Given the description of an element on the screen output the (x, y) to click on. 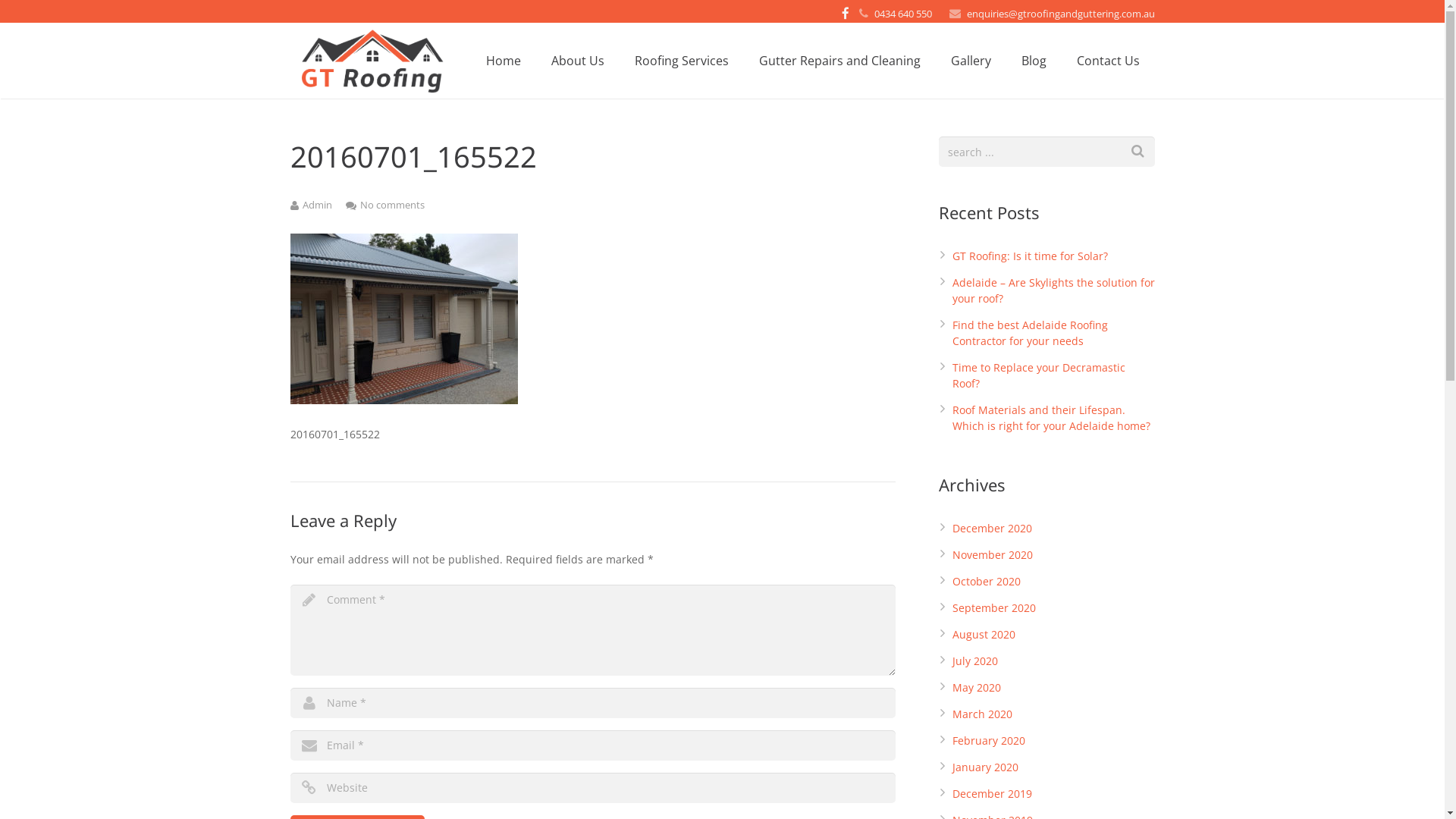
January 2020 Element type: text (985, 766)
March 2020 Element type: text (982, 713)
Time to Replace your Decramastic Roof? Element type: text (1038, 375)
About Us Element type: text (576, 60)
November 2020 Element type: text (992, 554)
Gallery Element type: text (970, 60)
Find the best Adelaide Roofing Contractor for your needs Element type: text (1029, 332)
September 2020 Element type: text (993, 607)
Roofing Services Element type: text (680, 60)
Contact Us Element type: text (1107, 60)
Blog Element type: text (1032, 60)
August 2020 Element type: text (983, 634)
enquiries@gtroofingandguttering.com.au Element type: text (1060, 13)
Home Element type: text (502, 60)
December 2020 Element type: text (992, 527)
December 2019 Element type: text (992, 793)
October 2020 Element type: text (986, 581)
May 2020 Element type: text (976, 687)
No comments Element type: text (391, 204)
July 2020 Element type: text (974, 660)
Gutter Repairs and Cleaning Element type: text (839, 60)
GT Roofing: Is it time for Solar? Element type: text (1029, 255)
February 2020 Element type: text (988, 740)
